Given the description of an element on the screen output the (x, y) to click on. 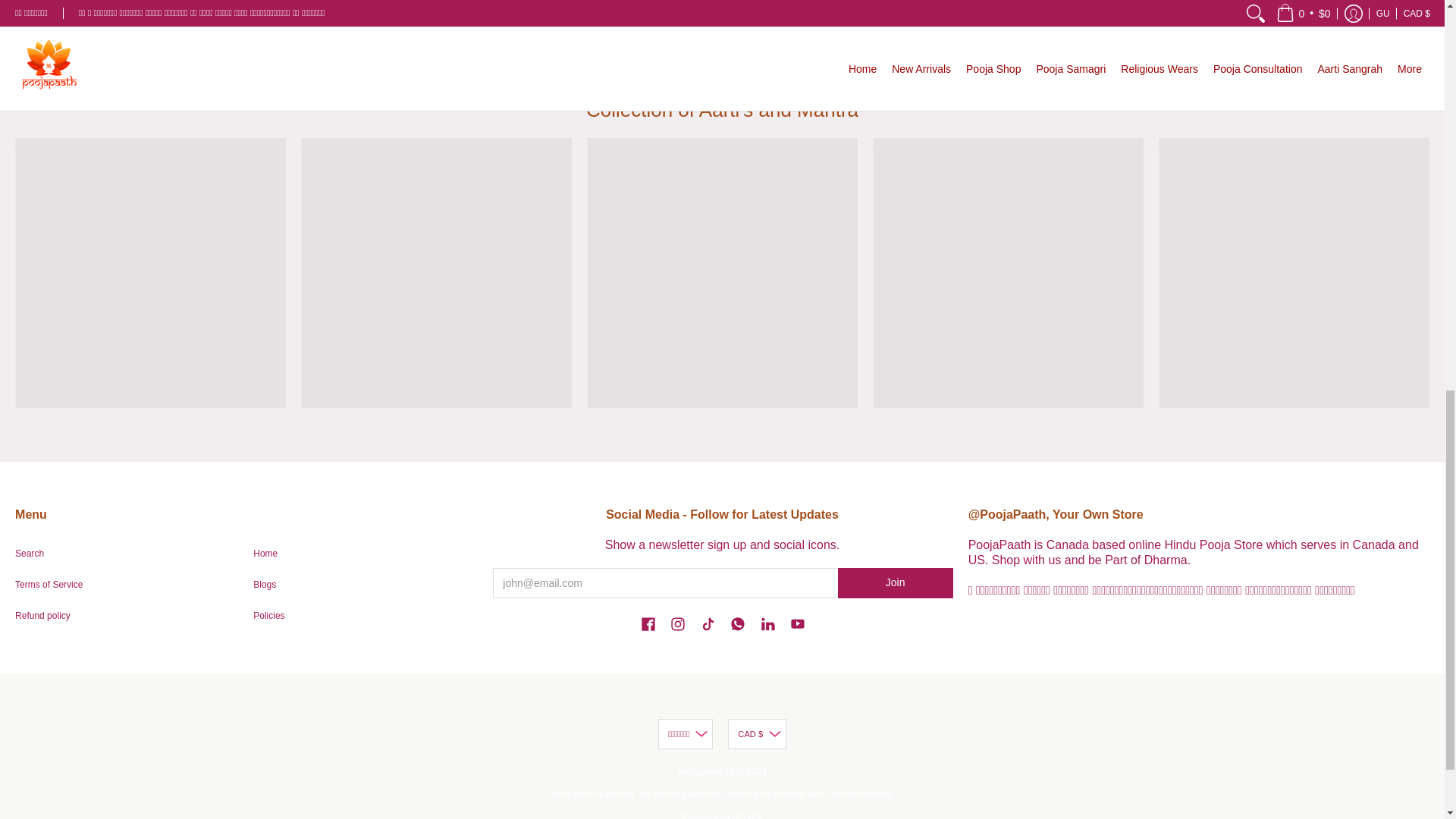
Join (895, 583)
